Given the description of an element on the screen output the (x, y) to click on. 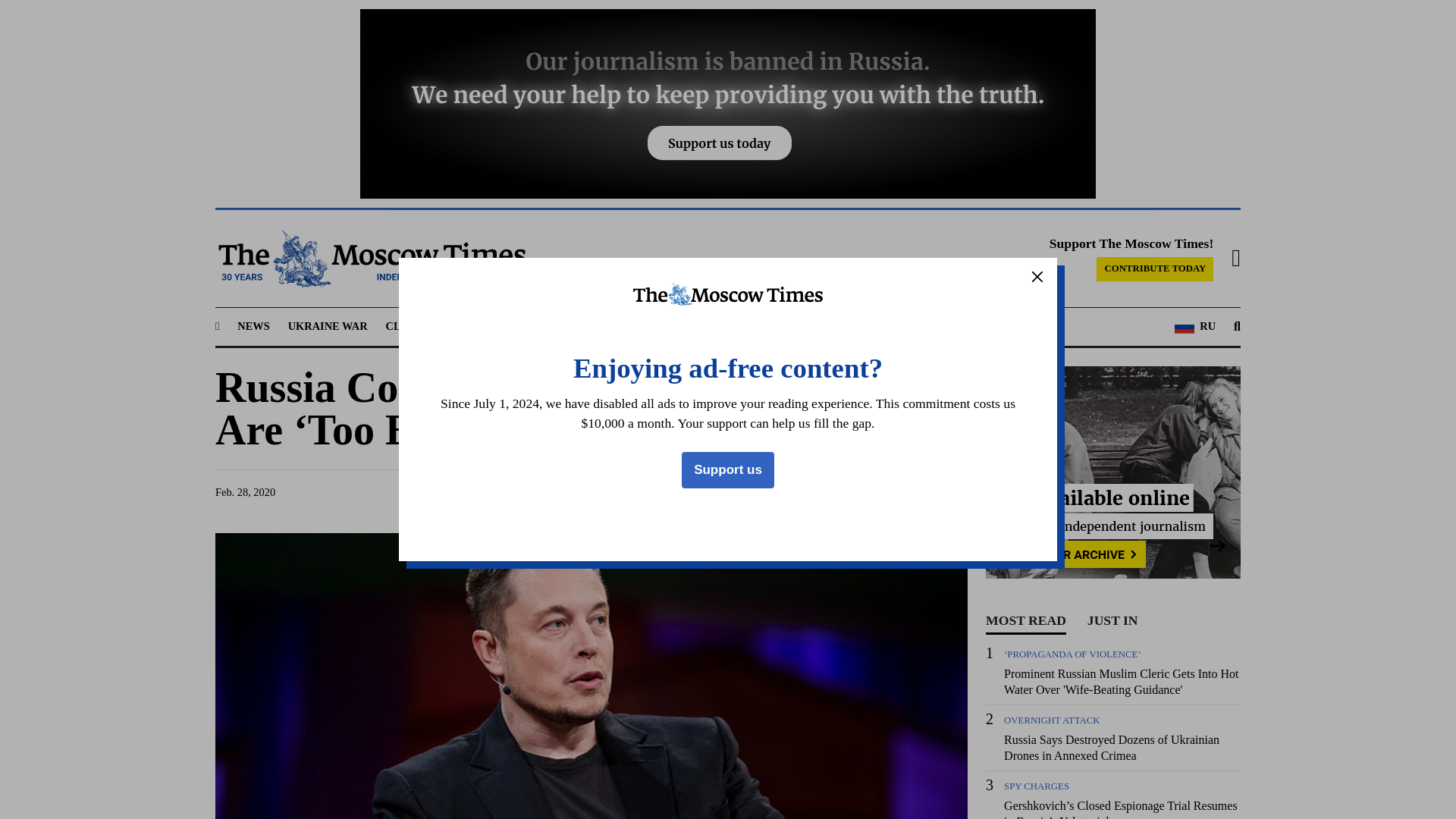
UKRAINE WAR (328, 326)
Share on Twitter (810, 492)
NEWS (253, 326)
REGIONS (479, 326)
ARCHIVE (853, 326)
Support us (727, 470)
Share on Flipboard (925, 492)
The Moscow Times - Independent News from Russia (370, 258)
BUSINESS (550, 326)
CONTRIBUTE TODAY (1154, 269)
MEANWHILE (629, 326)
OPINION (708, 326)
Share on Telegram (838, 492)
PODCASTS (780, 326)
Share on Facebook (781, 492)
